Given the description of an element on the screen output the (x, y) to click on. 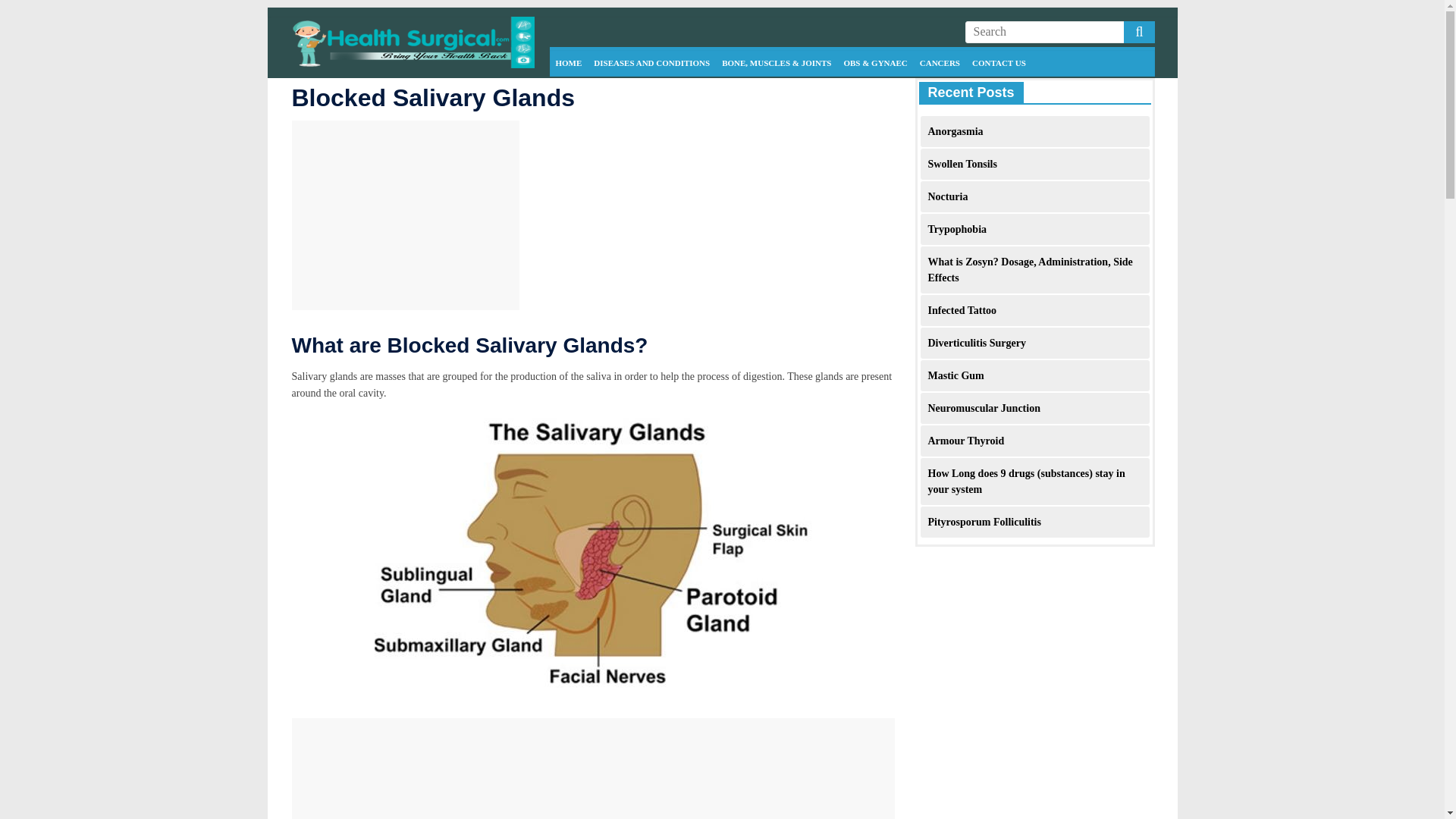
Swollen Tonsils (962, 163)
Pityrosporum Folliculitis (984, 521)
Armour Thyroid (966, 440)
Nocturia (948, 196)
Trypophobia (957, 229)
Neuromuscular Junction (984, 408)
DISEASES AND CONDITIONS (652, 62)
Diverticulitis Surgery (977, 342)
CANCERS (940, 62)
Mastic Gum (956, 375)
Advertisement (593, 768)
HOME (568, 62)
What is Zosyn? Dosage, Administration, Side Effects (1030, 269)
Advertisement (404, 215)
HealthSurgical.com (411, 25)
